Given the description of an element on the screen output the (x, y) to click on. 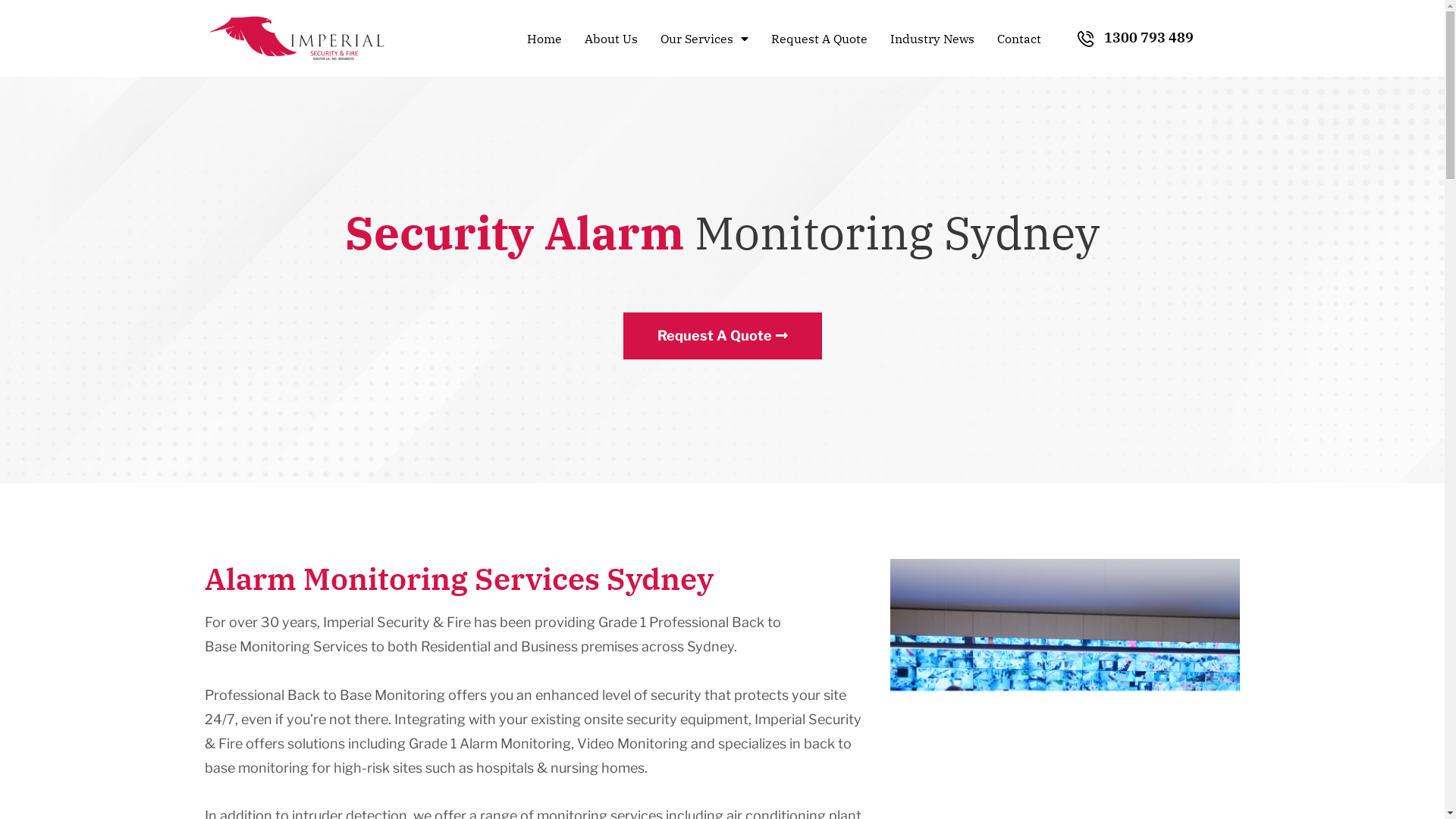
Industry News Element type: text (932, 38)
Request A Quote Element type: text (722, 335)
Our Services Element type: text (704, 38)
Home Element type: text (544, 38)
Contact Element type: text (1018, 38)
phone-call (13) 1 Element type: hover (1085, 39)
1300 793 489 Element type: text (1148, 37)
Request A Quote Element type: text (819, 38)
About Us Element type: text (611, 38)
